Given the description of an element on the screen output the (x, y) to click on. 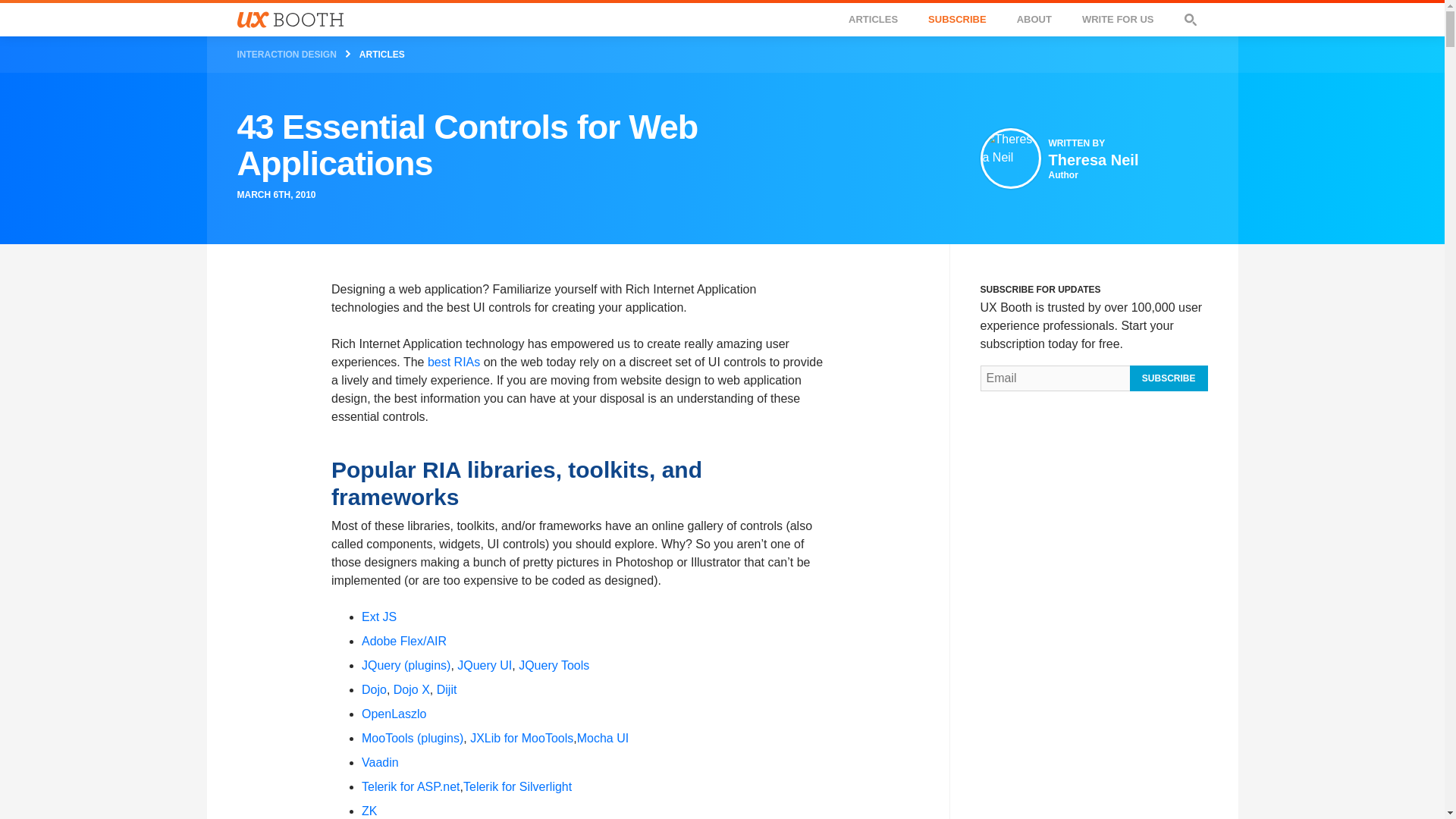
OpenLaszlo (1093, 165)
ALL ARTICLES (393, 713)
JQuery UI (722, 18)
Dojo X (484, 665)
Telerik for ASP.net (411, 689)
JXLib for MooTools (410, 786)
Dojo (521, 738)
SUBSCRIBE (374, 689)
Dijit (957, 19)
